Given the description of an element on the screen output the (x, y) to click on. 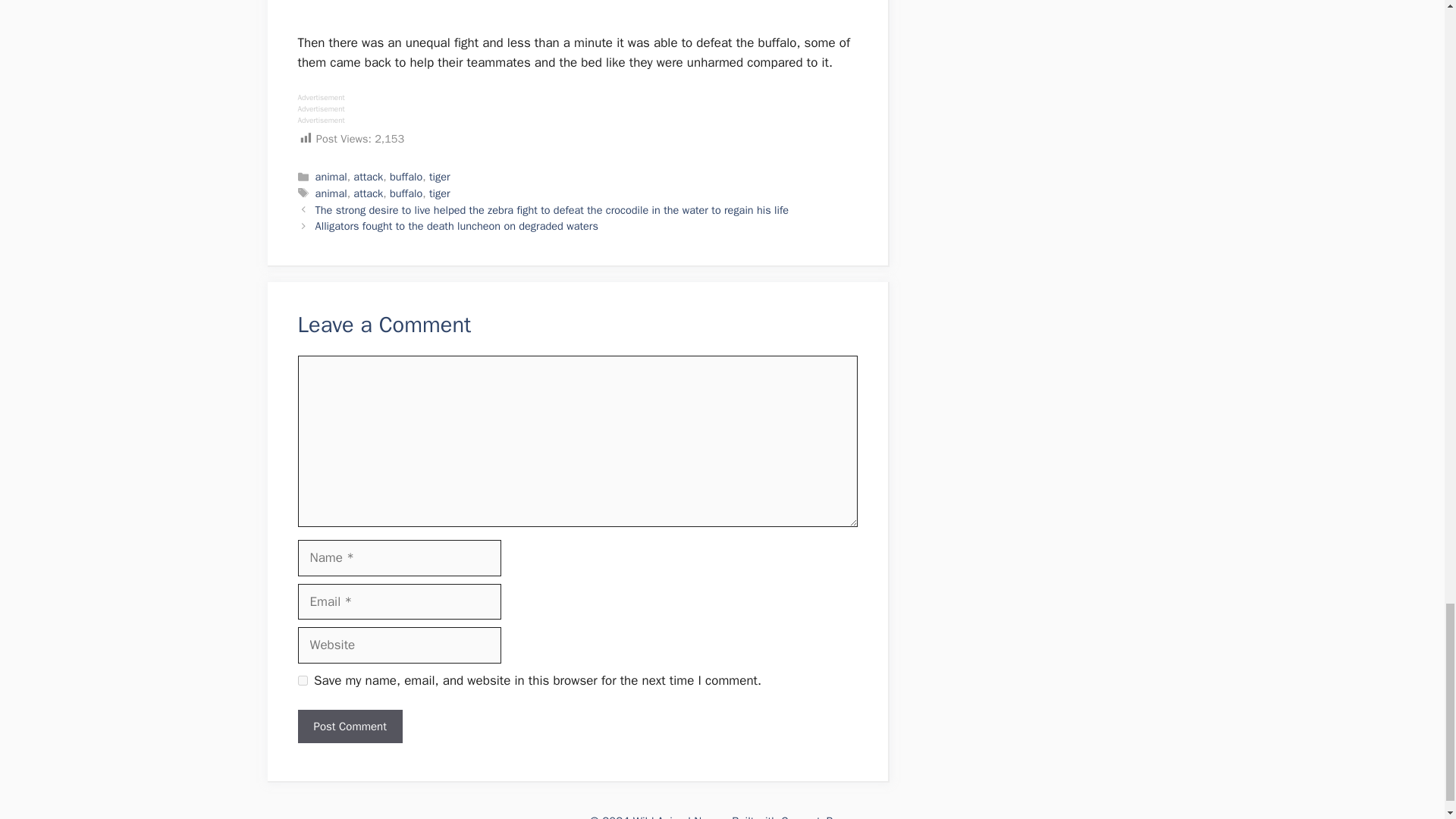
Alligators fought to the death luncheon on degraded waters (456, 225)
buffalo (406, 192)
yes (302, 680)
animal (331, 192)
tiger (439, 176)
GeneratePress (817, 816)
tiger (439, 192)
Post Comment (349, 726)
animal (331, 176)
